Given the description of an element on the screen output the (x, y) to click on. 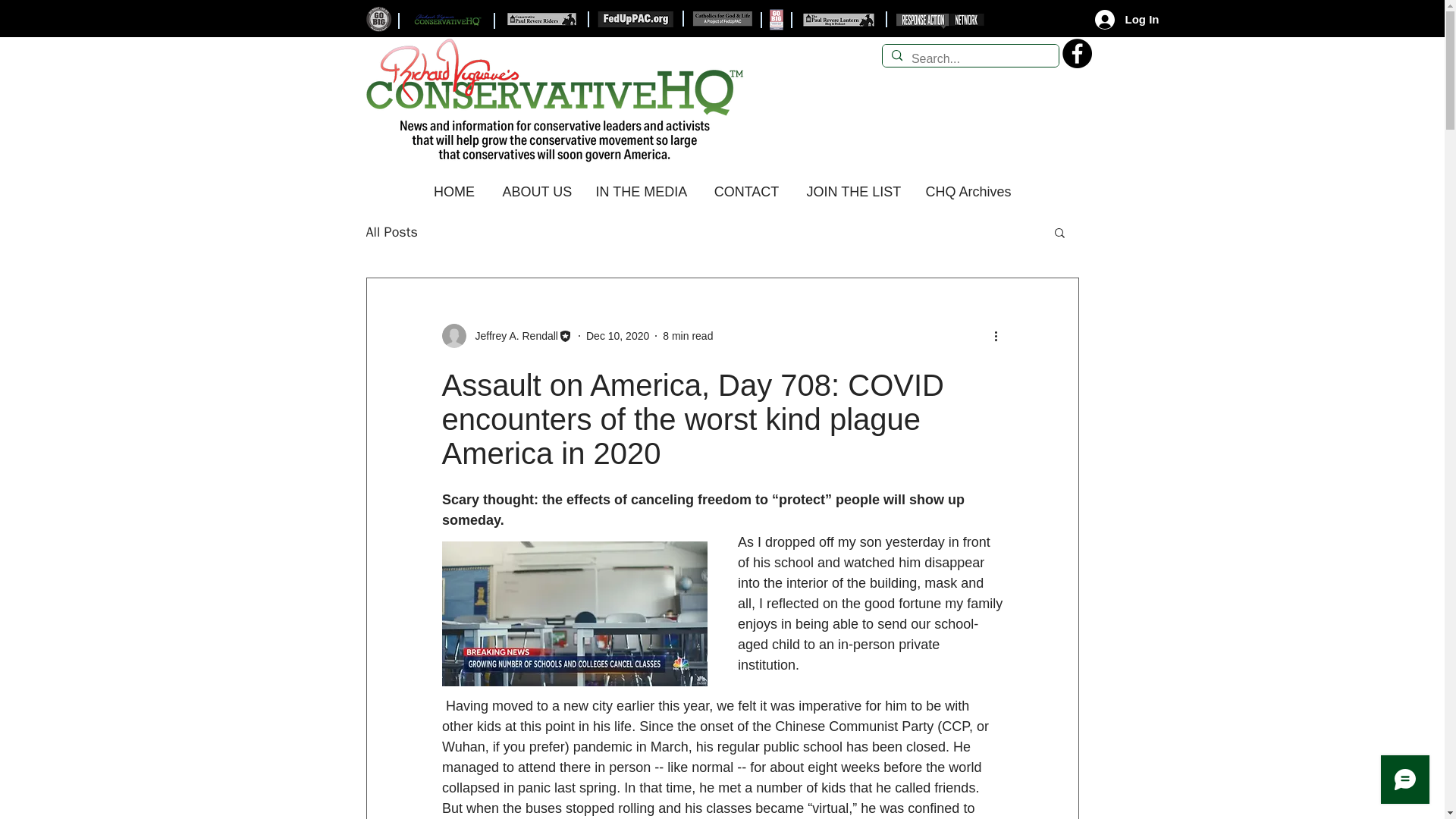
IN THE MEDIA (641, 184)
ABOUT US (533, 184)
8 min read (687, 335)
Jeffrey A. Rendall (511, 335)
All Posts (390, 231)
CHQ Archives (968, 184)
Dec 10, 2020 (617, 335)
RAN-grayscale.png (942, 21)
Log In (1127, 18)
CONTACT (746, 184)
